Given the description of an element on the screen output the (x, y) to click on. 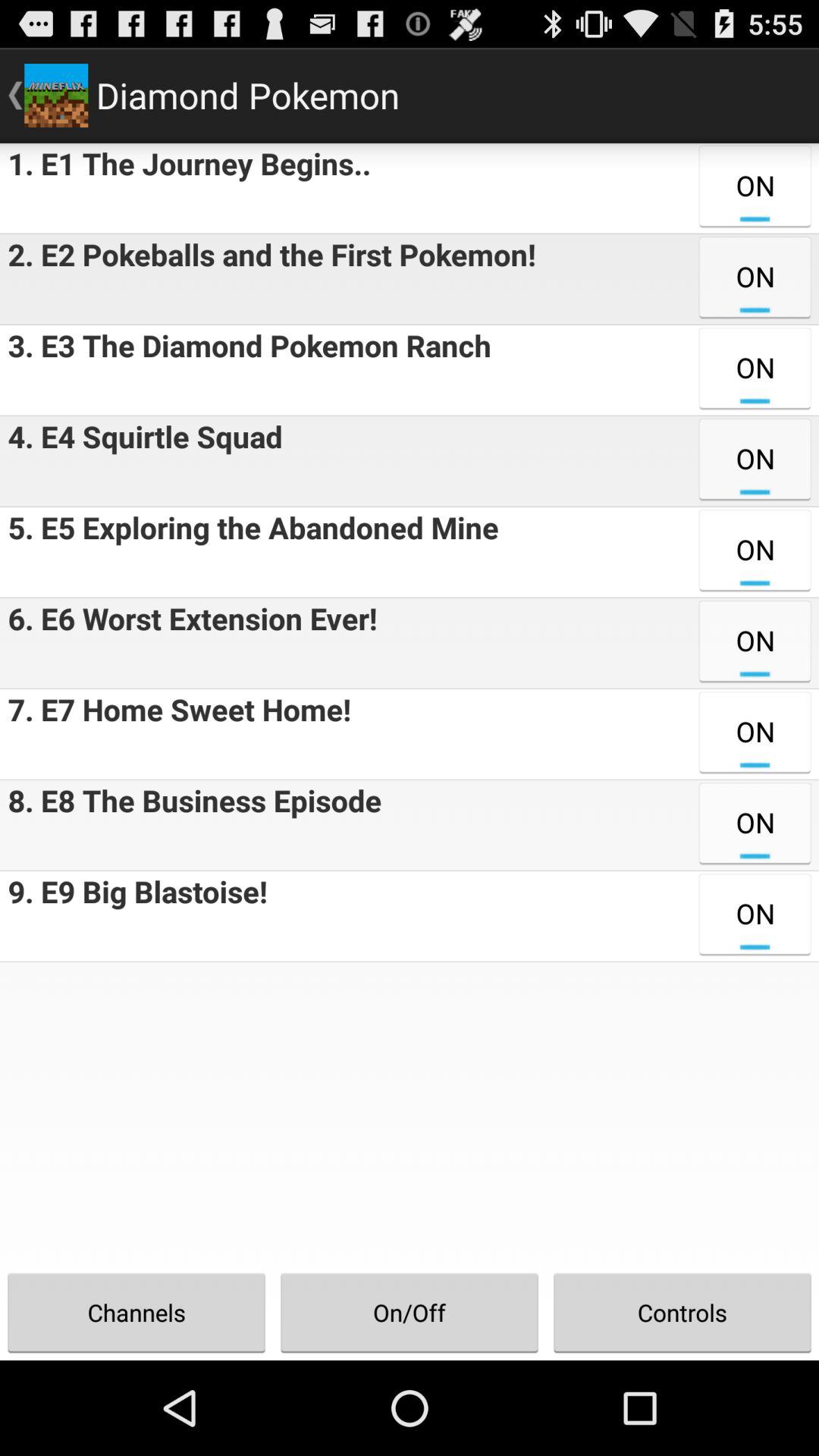
flip to on/off (409, 1312)
